Given the description of an element on the screen output the (x, y) to click on. 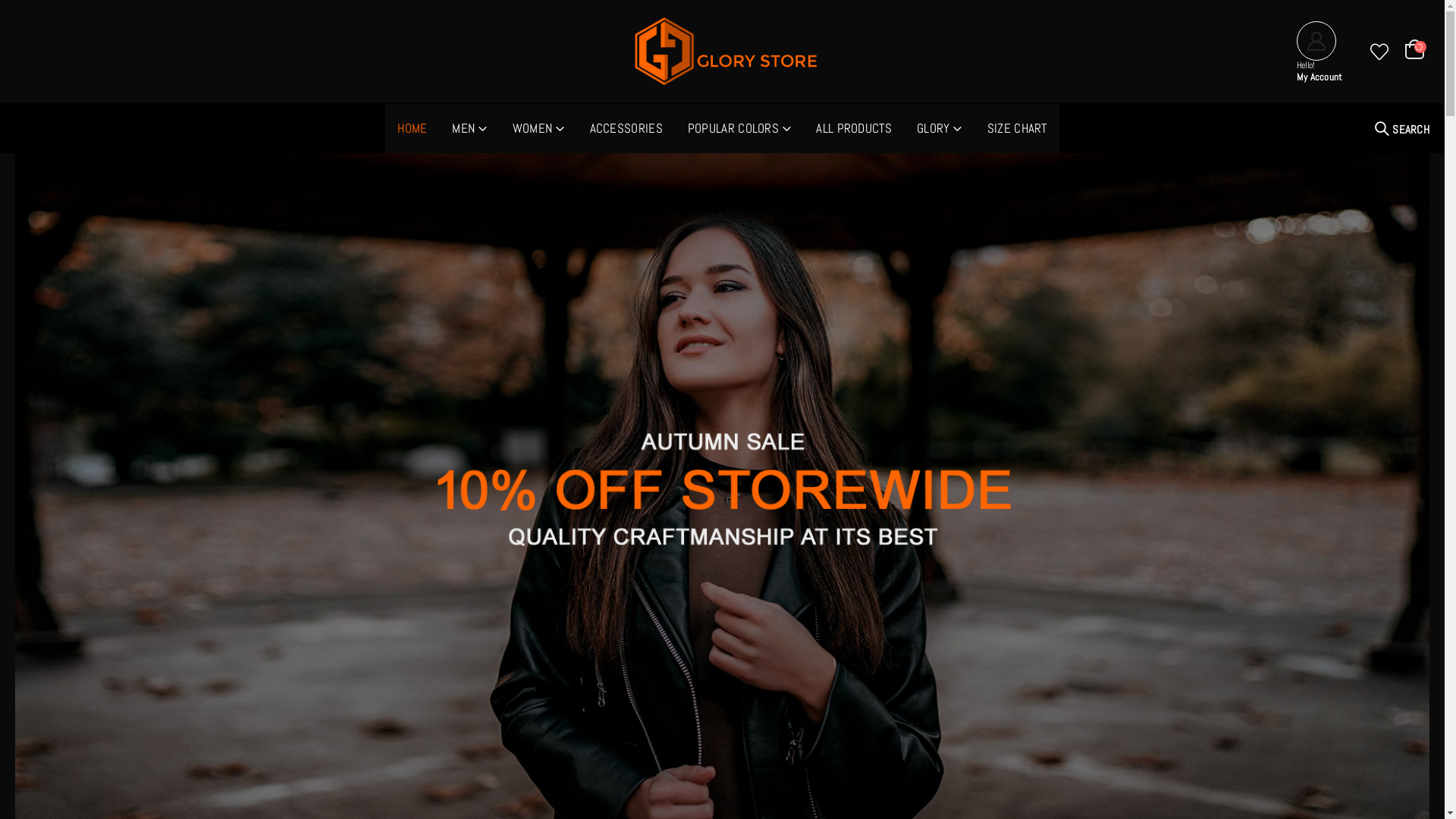
WOMEN Element type: text (538, 128)
HOME Element type: text (412, 128)
GLORY Element type: text (939, 128)
ACCESSORIES Element type: text (625, 128)
ALL PRODUCTS Element type: text (853, 128)
GLORY - Top Quality-Full grain leather jackets Element type: hover (722, 51)
SEARCH Element type: text (1401, 128)
MEN Element type: text (468, 128)
SIZE CHART Element type: text (1017, 128)
POPULAR COLORS Element type: text (739, 128)
Hello!
My Account Element type: text (1321, 51)
